Given the description of an element on the screen output the (x, y) to click on. 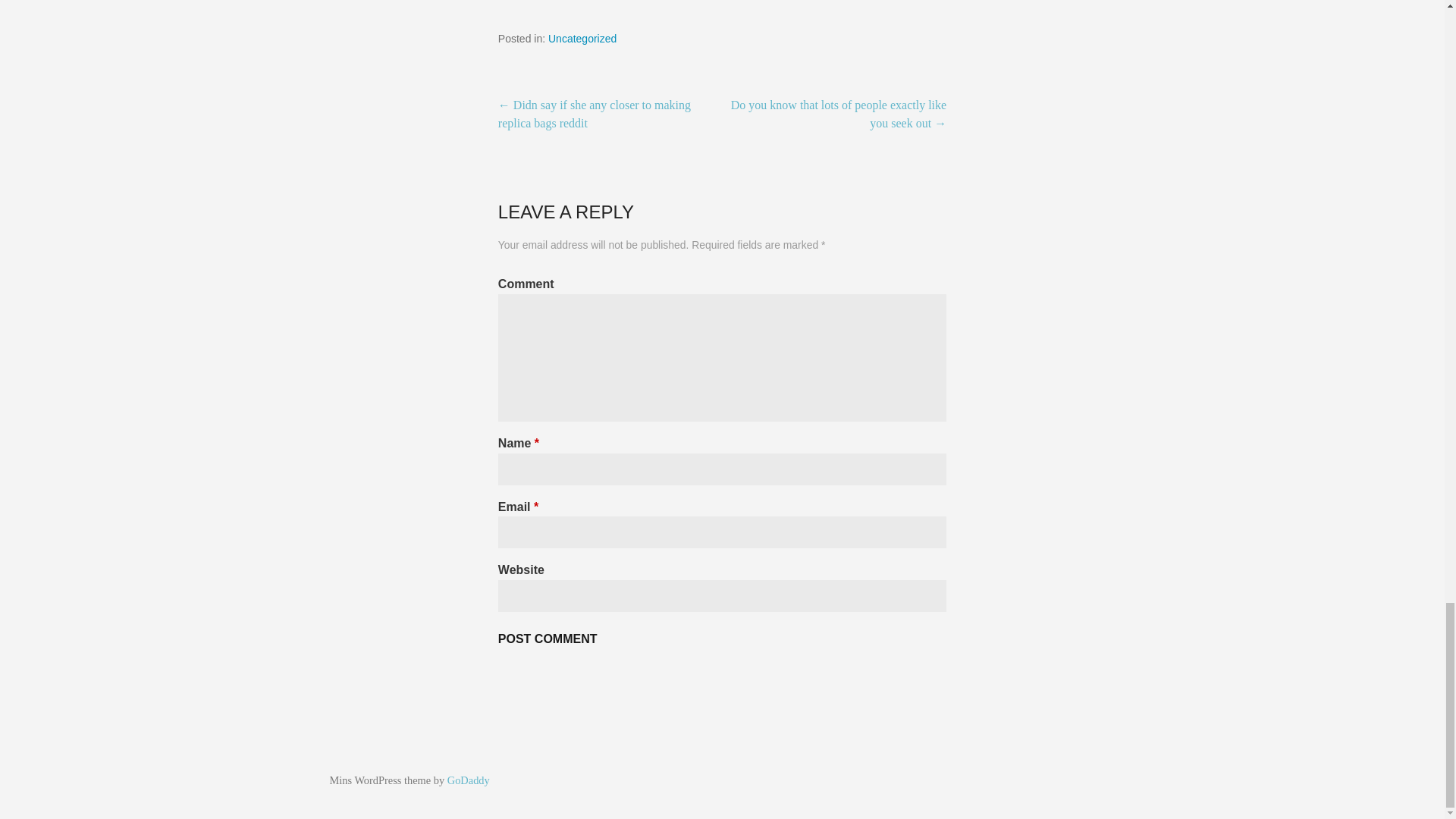
Post Comment (546, 639)
GoDaddy (467, 779)
Uncategorized (581, 38)
Post Comment (546, 639)
